Given the description of an element on the screen output the (x, y) to click on. 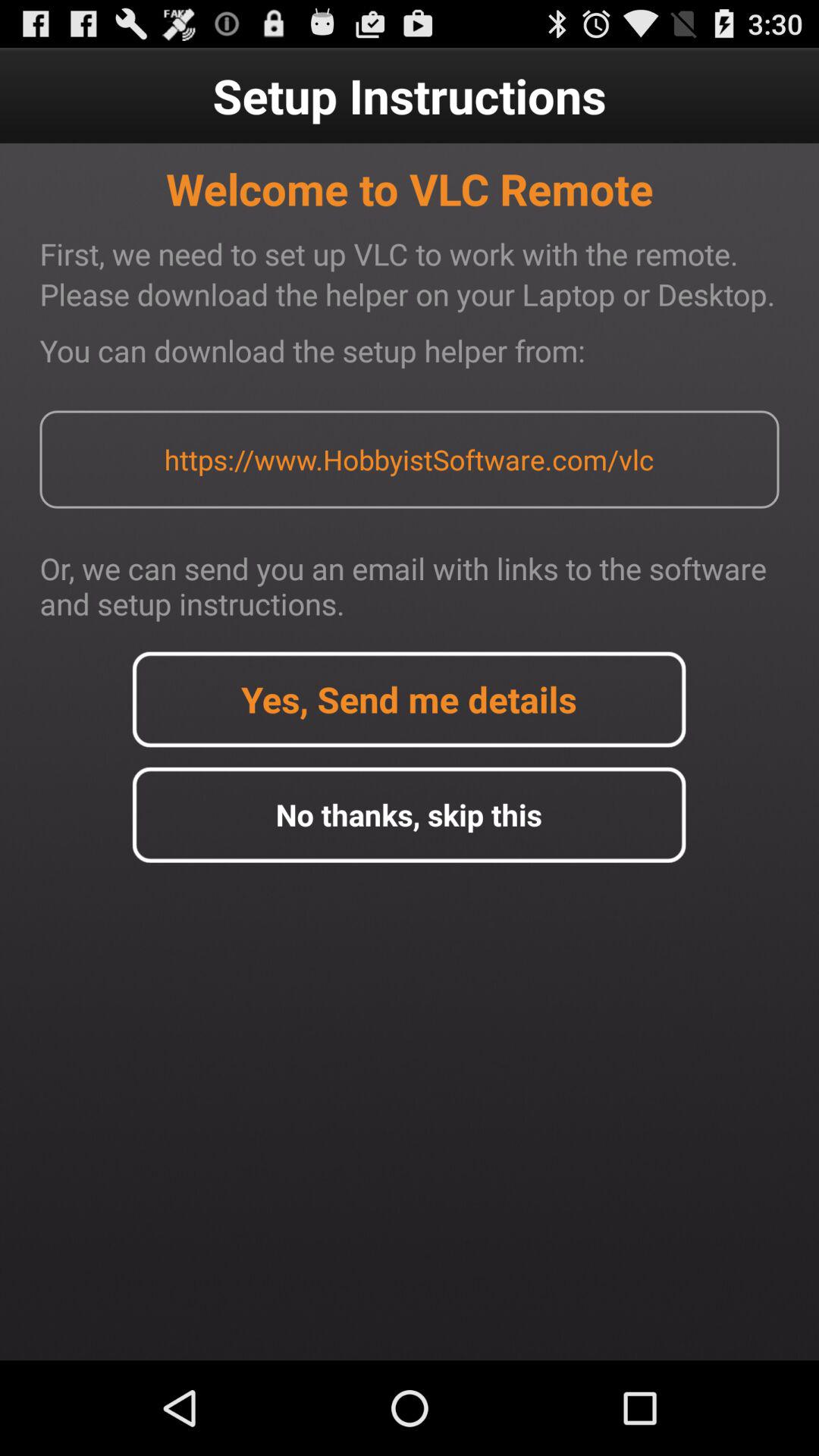
skip button (408, 814)
